Given the description of an element on the screen output the (x, y) to click on. 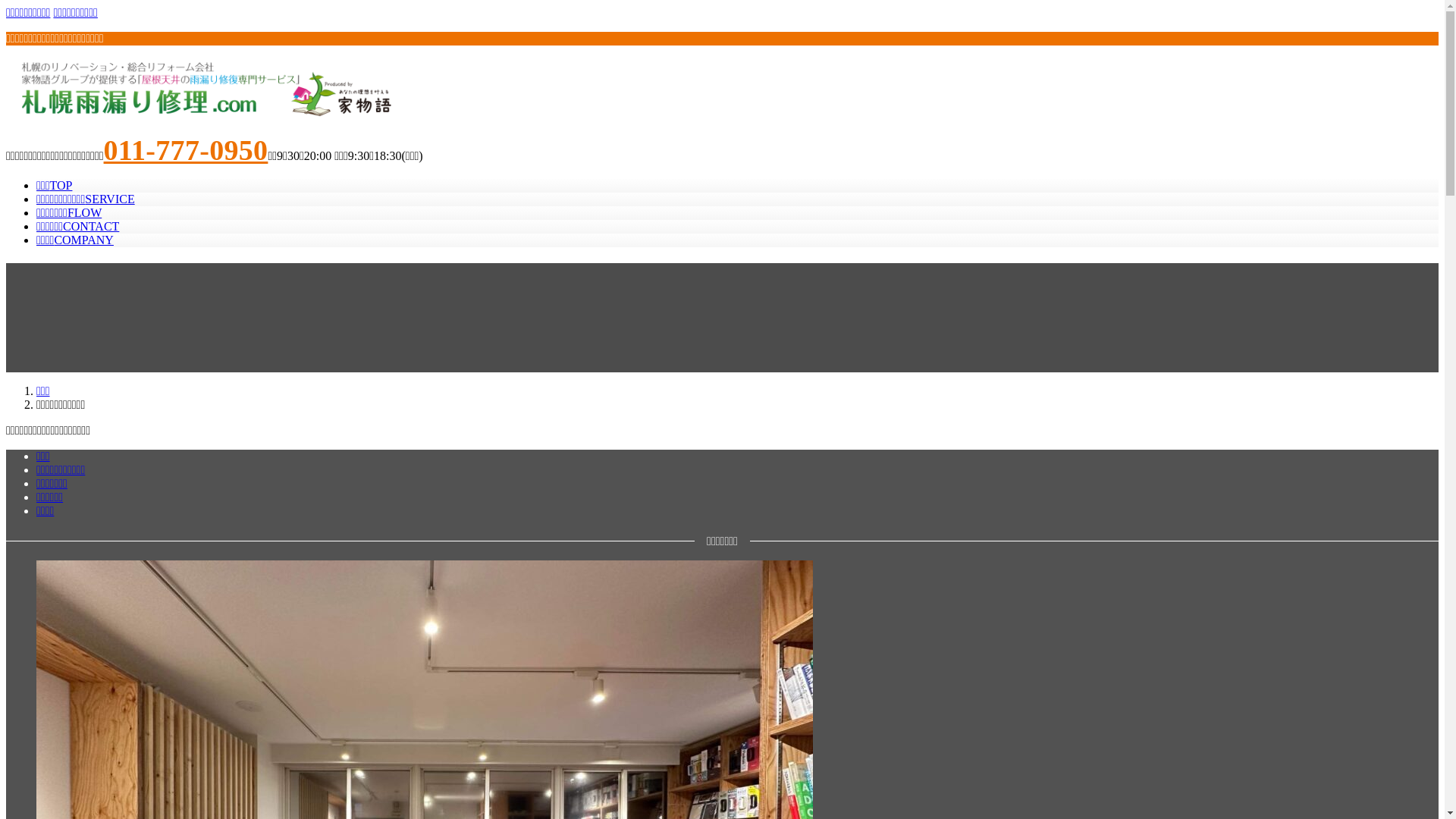
011-777-0950 Element type: text (185, 150)
